Given the description of an element on the screen output the (x, y) to click on. 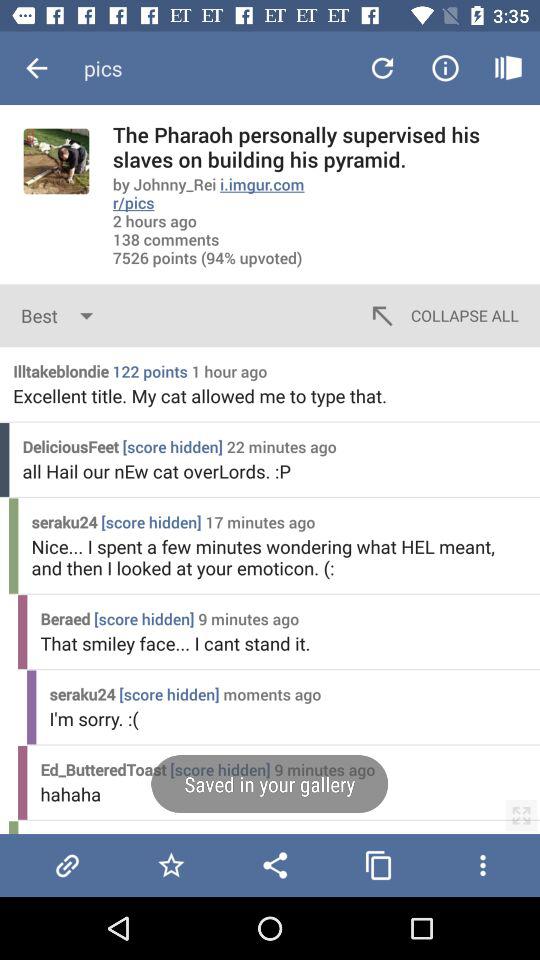
go to file (67, 865)
